Given the description of an element on the screen output the (x, y) to click on. 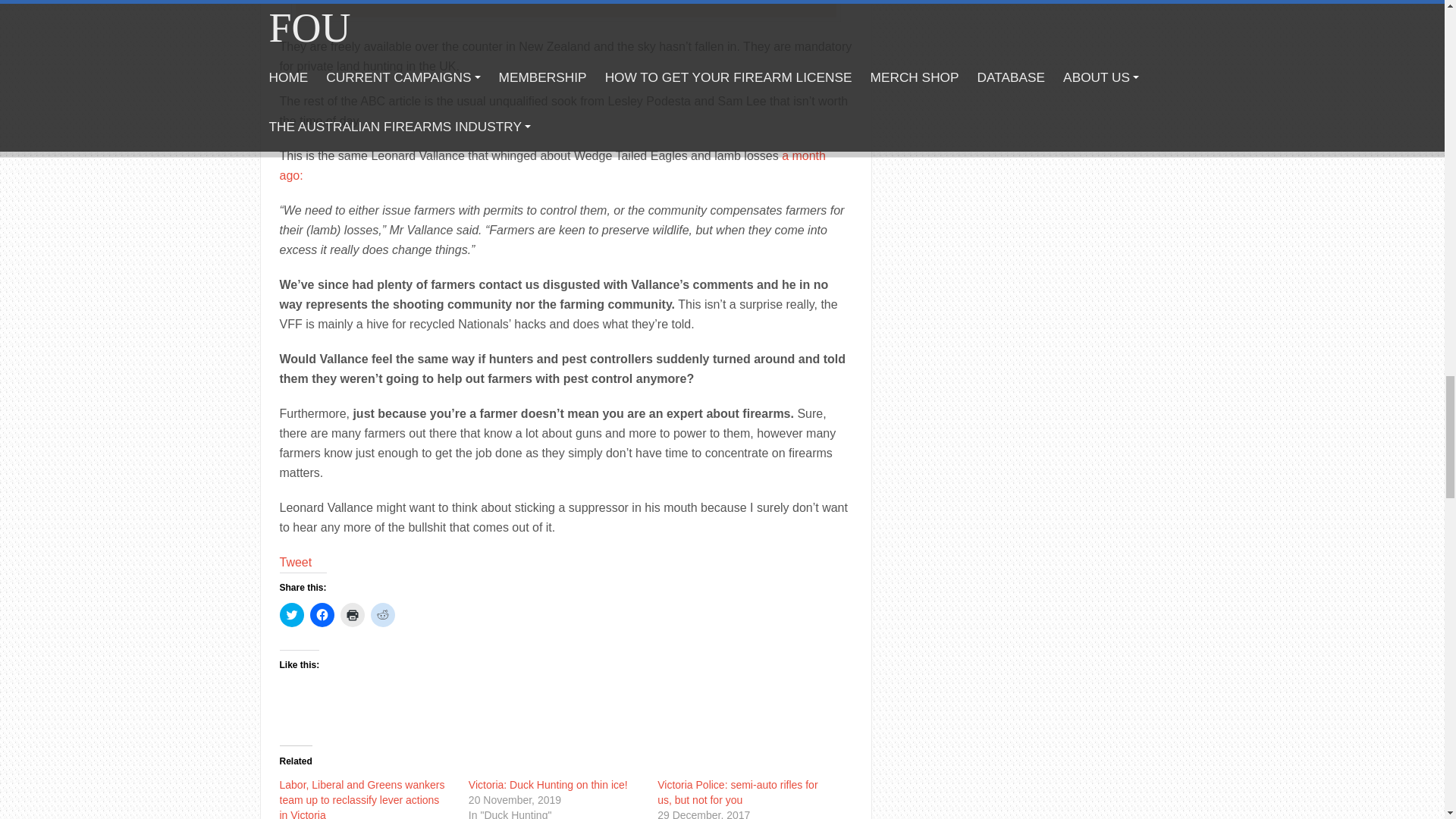
Click to share on Facebook (320, 614)
Victoria: Duck Hunting on thin ice! (547, 784)
Click to share on Twitter (290, 614)
Click to share on Reddit (381, 614)
a month ago: (552, 165)
Victoria Police: semi-auto rifles for us, but not for you (737, 791)
Click to print (351, 614)
